Given the description of an element on the screen output the (x, y) to click on. 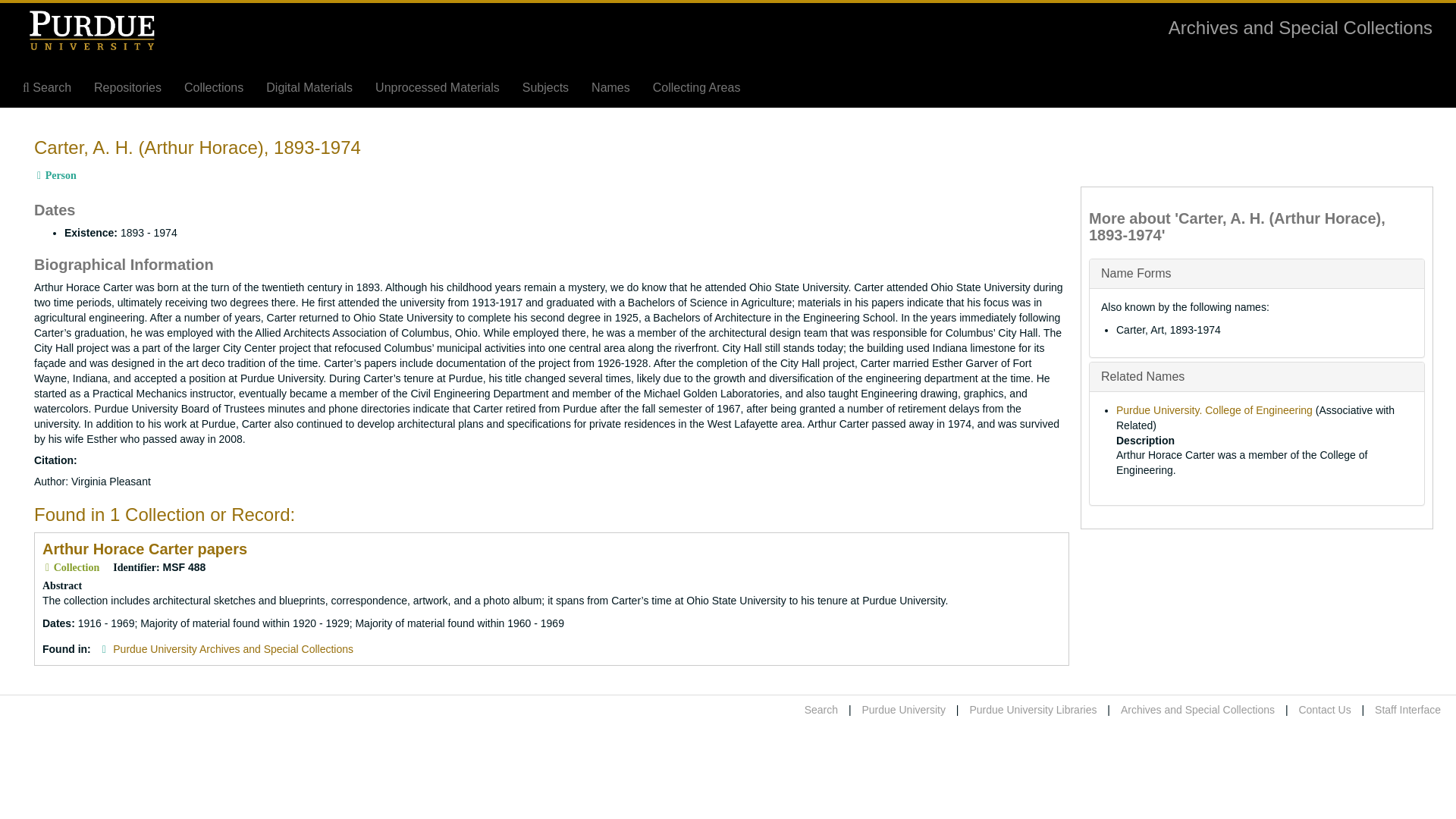
Collecting Areas (697, 87)
Digital Materials (309, 87)
Page Actions (1139, 130)
Staff Interface (1407, 709)
Purdue University Libraries Home (1032, 709)
Repositories (127, 87)
Related Names (1142, 376)
Archives and Special Collections Home (1198, 709)
Purdue University Libraries (1032, 709)
Name Forms (1135, 273)
